Given the description of an element on the screen output the (x, y) to click on. 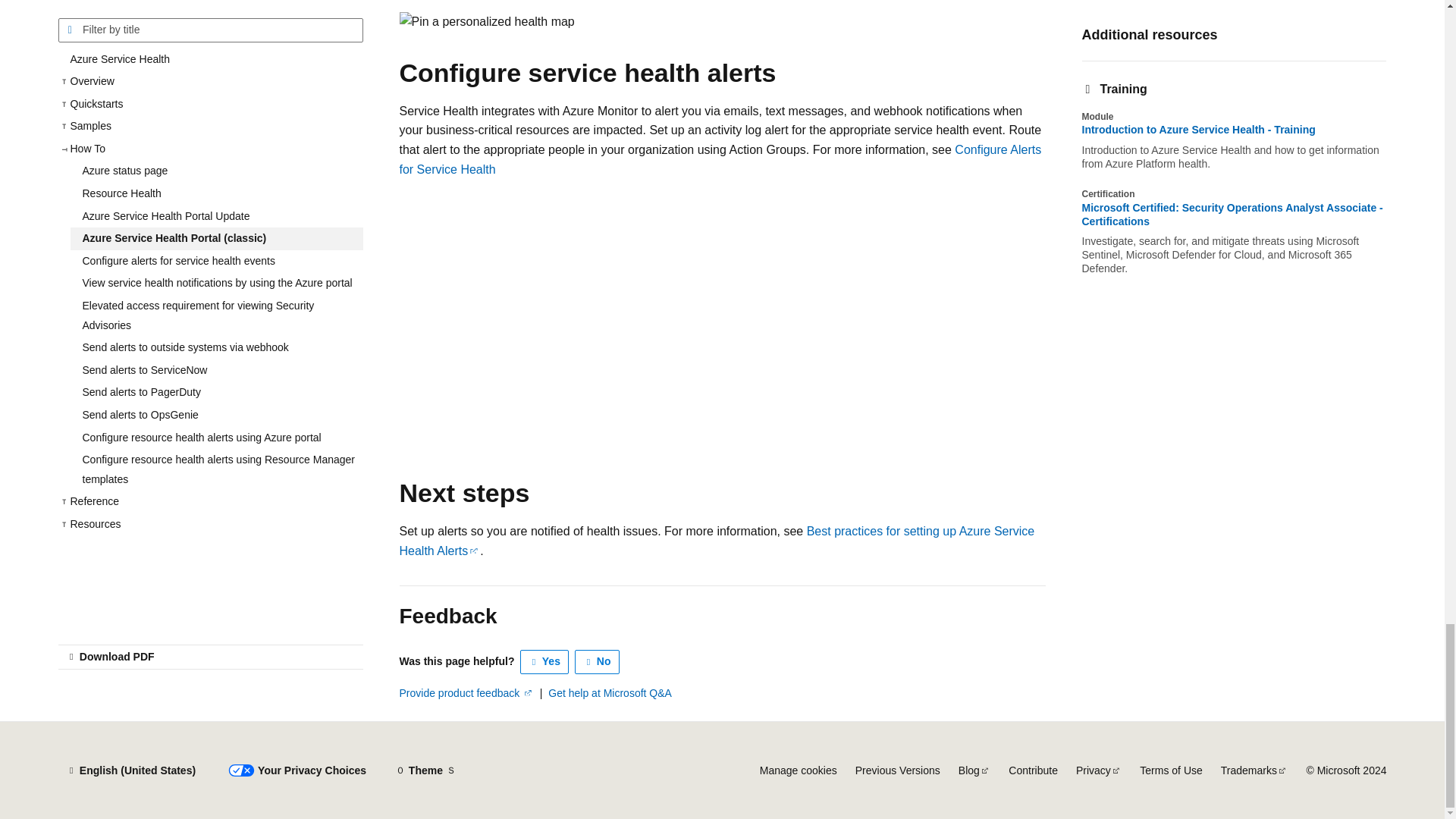
This article is not helpful (597, 662)
This article is helpful (544, 662)
Theme (425, 770)
Video Player (640, 315)
